Given the description of an element on the screen output the (x, y) to click on. 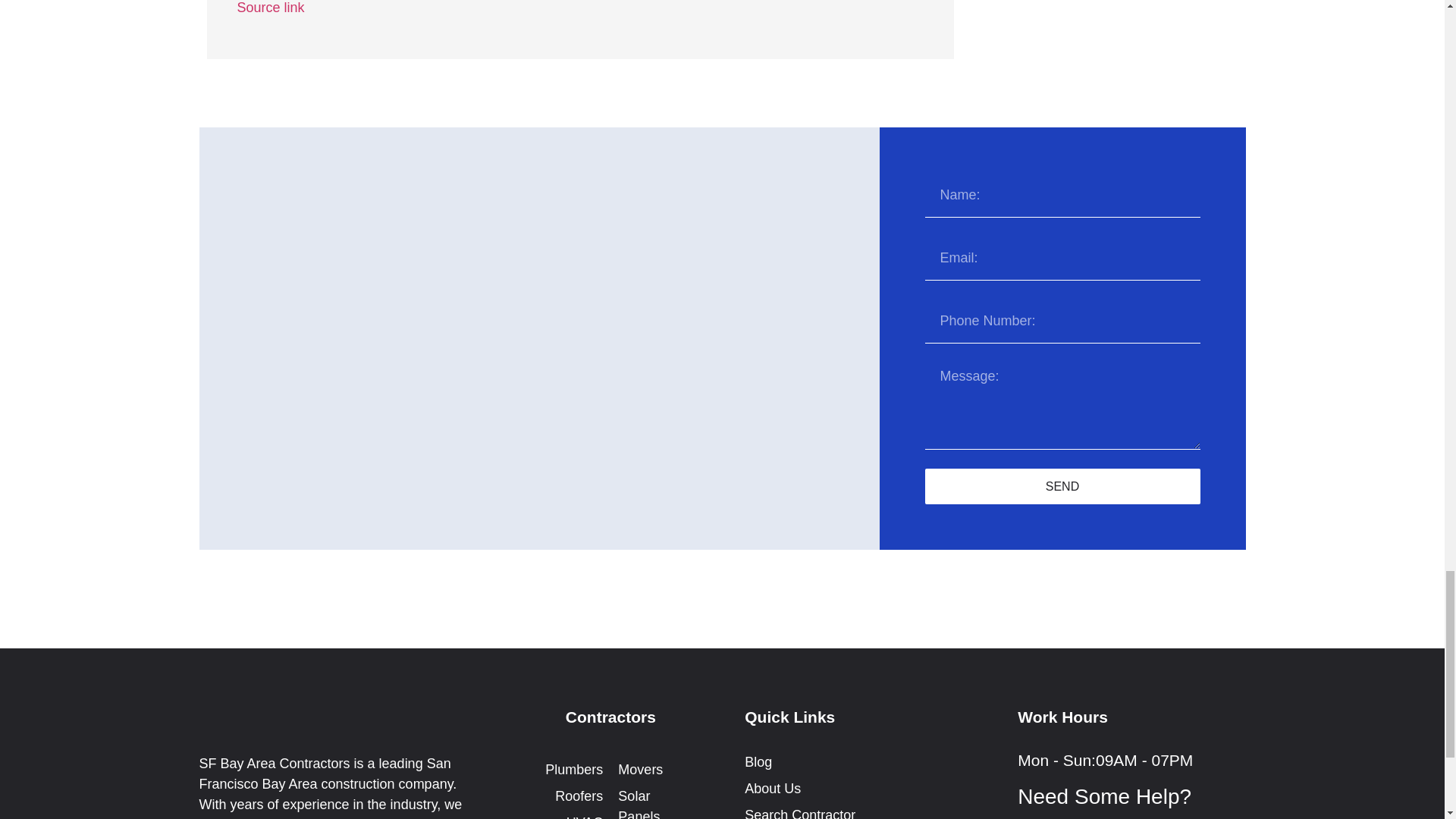
Movers (654, 770)
Blog (858, 762)
HVAC Contractors (565, 816)
Source link (269, 7)
SEND (1061, 486)
Roofers (565, 796)
Plumbers (565, 770)
Solar Panels (654, 802)
